Given the description of an element on the screen output the (x, y) to click on. 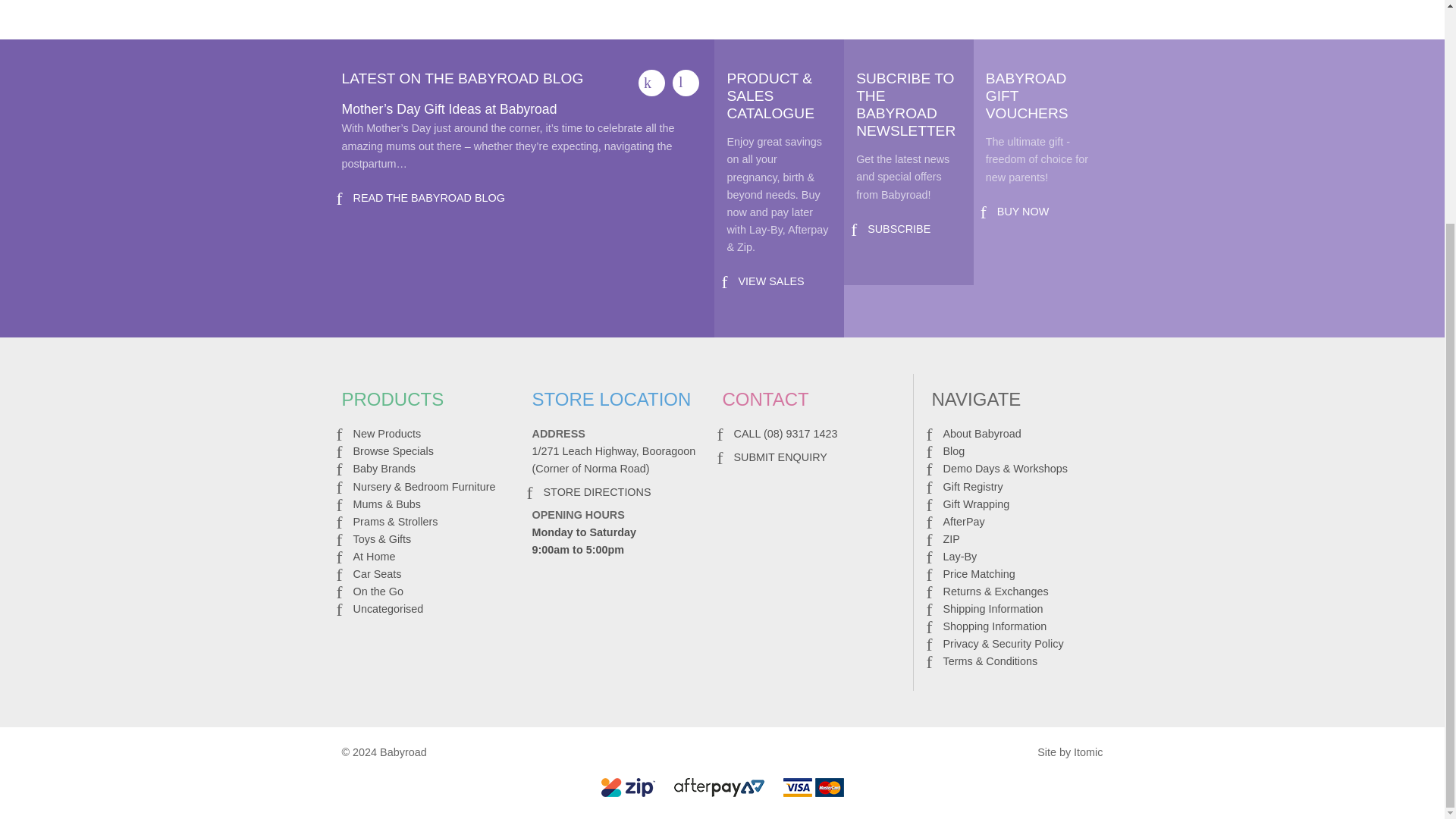
View (770, 281)
SUBSCRIBE (898, 228)
READ THE BABYROAD BLO (429, 197)
VIEW SALES (770, 281)
Get Directions (596, 491)
READ THE BABYROAD BLOG (429, 197)
Babyroad on Facebook (652, 82)
Babyroad on Instagram (685, 82)
BUY NOW (1023, 211)
Subscribe (898, 228)
Buy Now (1023, 211)
